Given the description of an element on the screen output the (x, y) to click on. 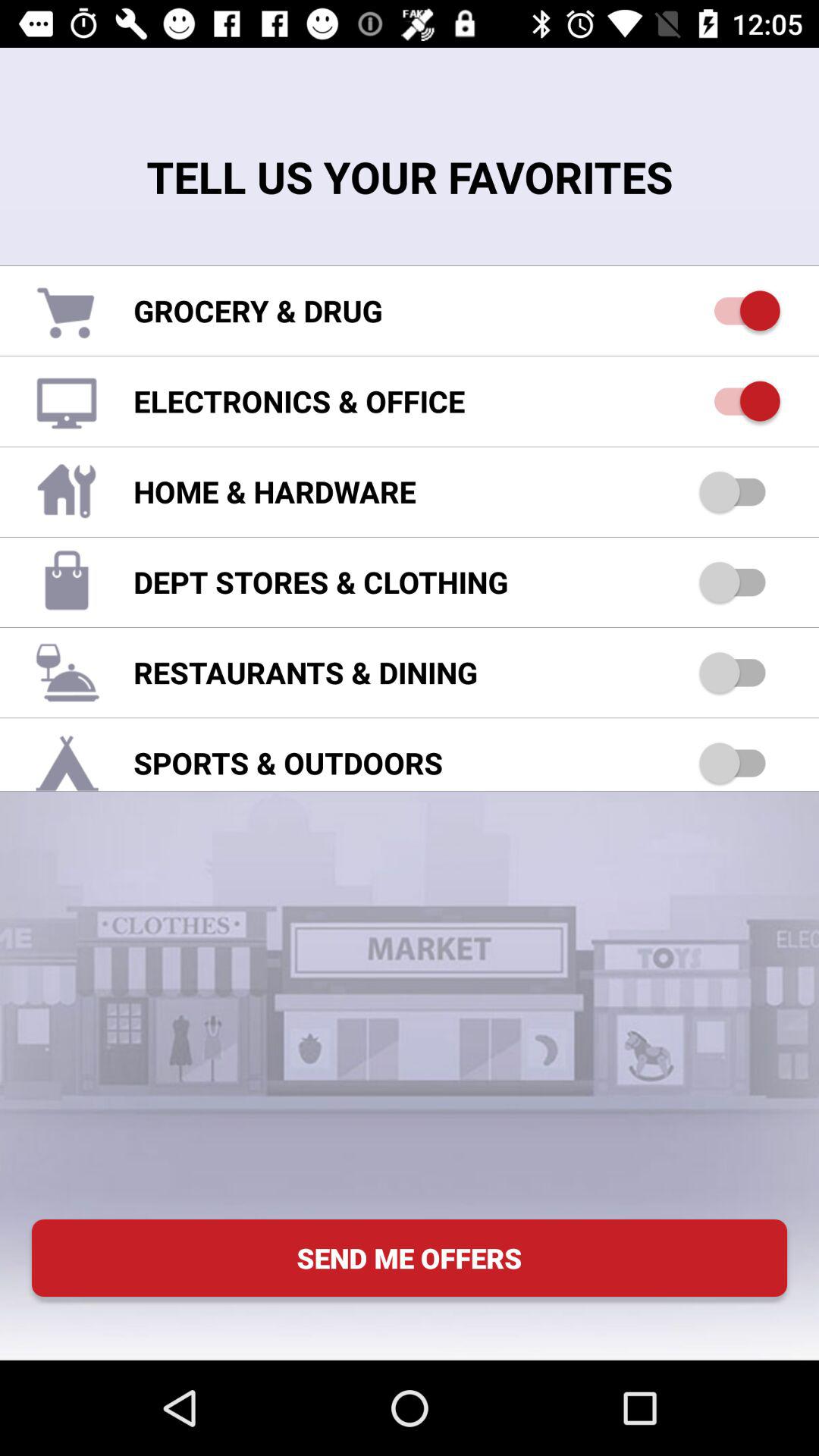
toggle home and hardware (739, 491)
